Given the description of an element on the screen output the (x, y) to click on. 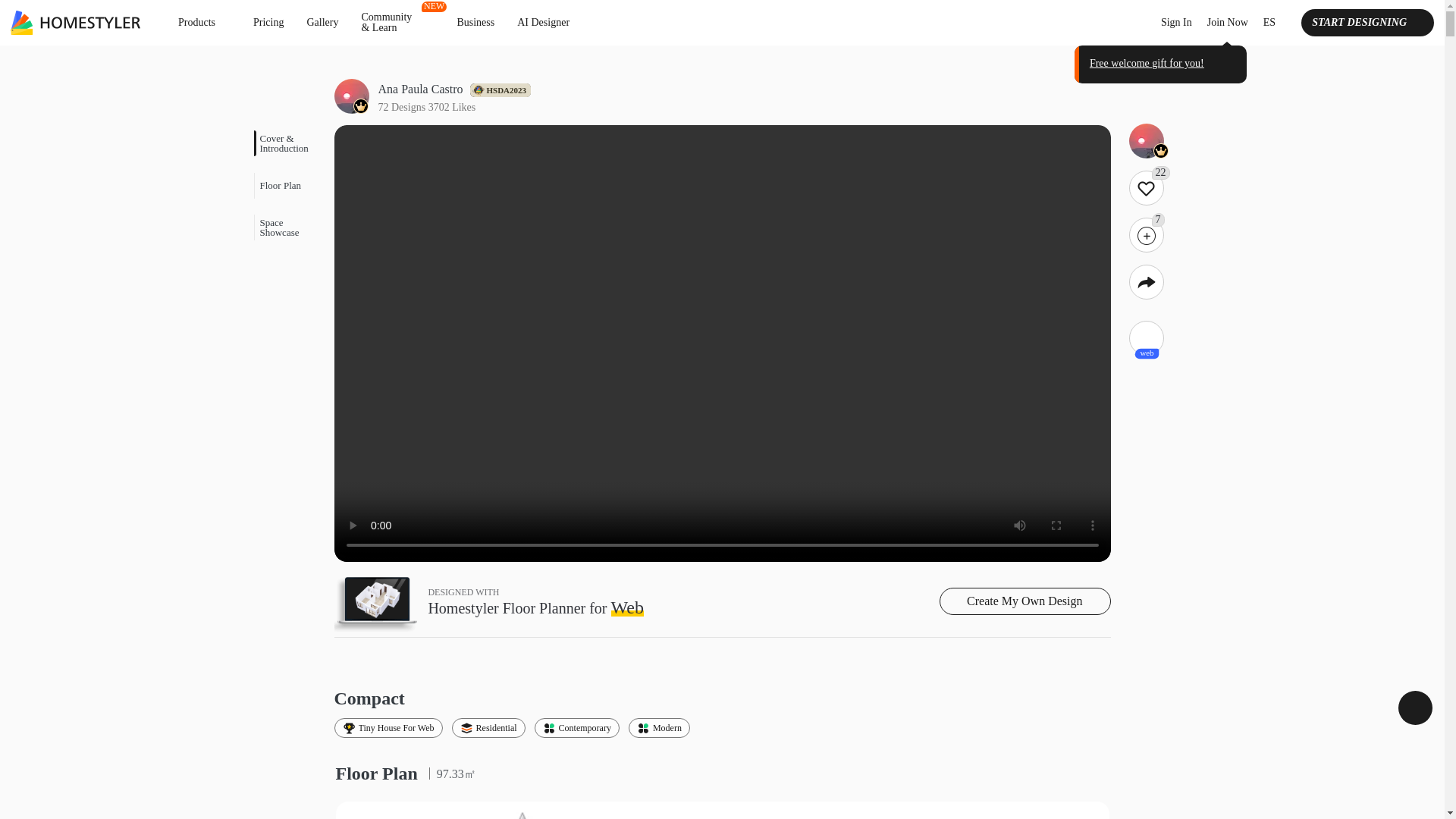
Pricing (268, 22)
AI Designer (542, 22)
Like (1145, 187)
Business (475, 22)
Tiny House For Web design ideas (387, 727)
Residential design ideas (488, 727)
Modern design ideas (659, 727)
Contemporary design ideas (577, 727)
Gallery (322, 22)
Comment (1145, 234)
Share (1145, 281)
Products (204, 22)
